Given the description of an element on the screen output the (x, y) to click on. 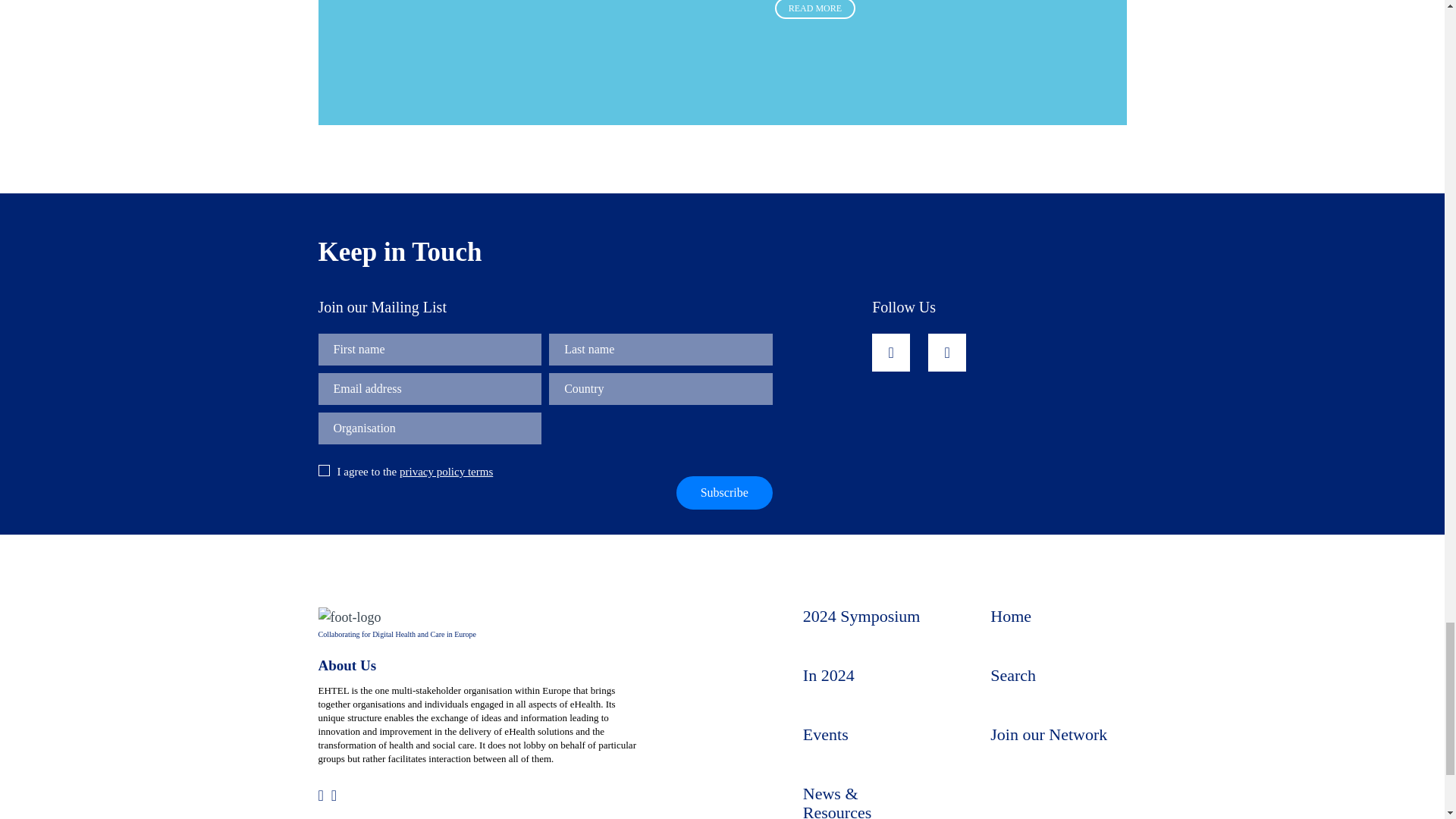
Subscribe (725, 492)
